Given the description of an element on the screen output the (x, y) to click on. 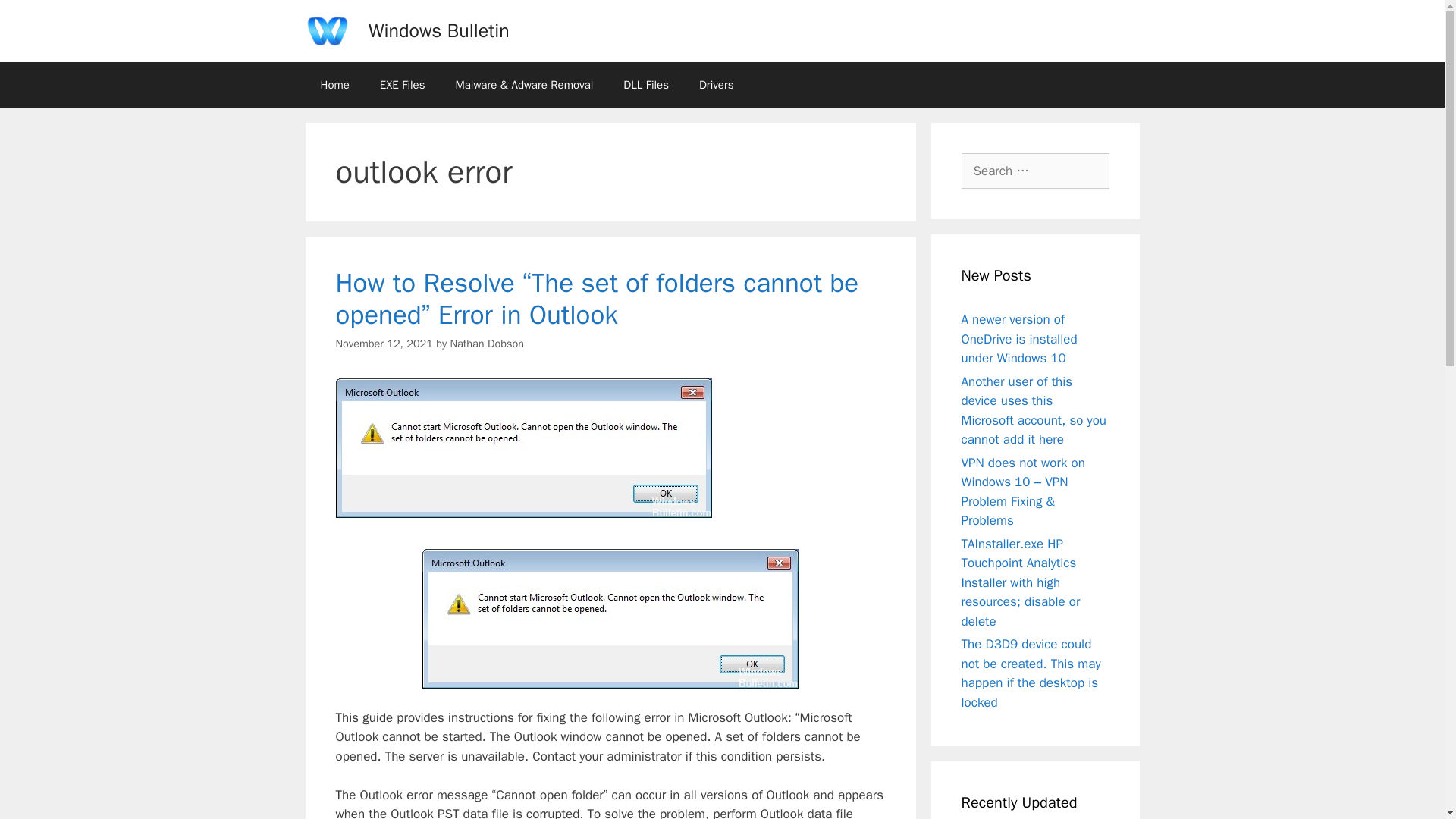
Search for: (1034, 171)
View all posts by Nathan Dobson (486, 343)
EXE Files (403, 84)
A newer version of OneDrive is installed under Windows 10 (1018, 339)
DLL Files (646, 84)
Home (334, 84)
Search (35, 18)
Windows Bulletin (438, 30)
Drivers (716, 84)
